Given the description of an element on the screen output the (x, y) to click on. 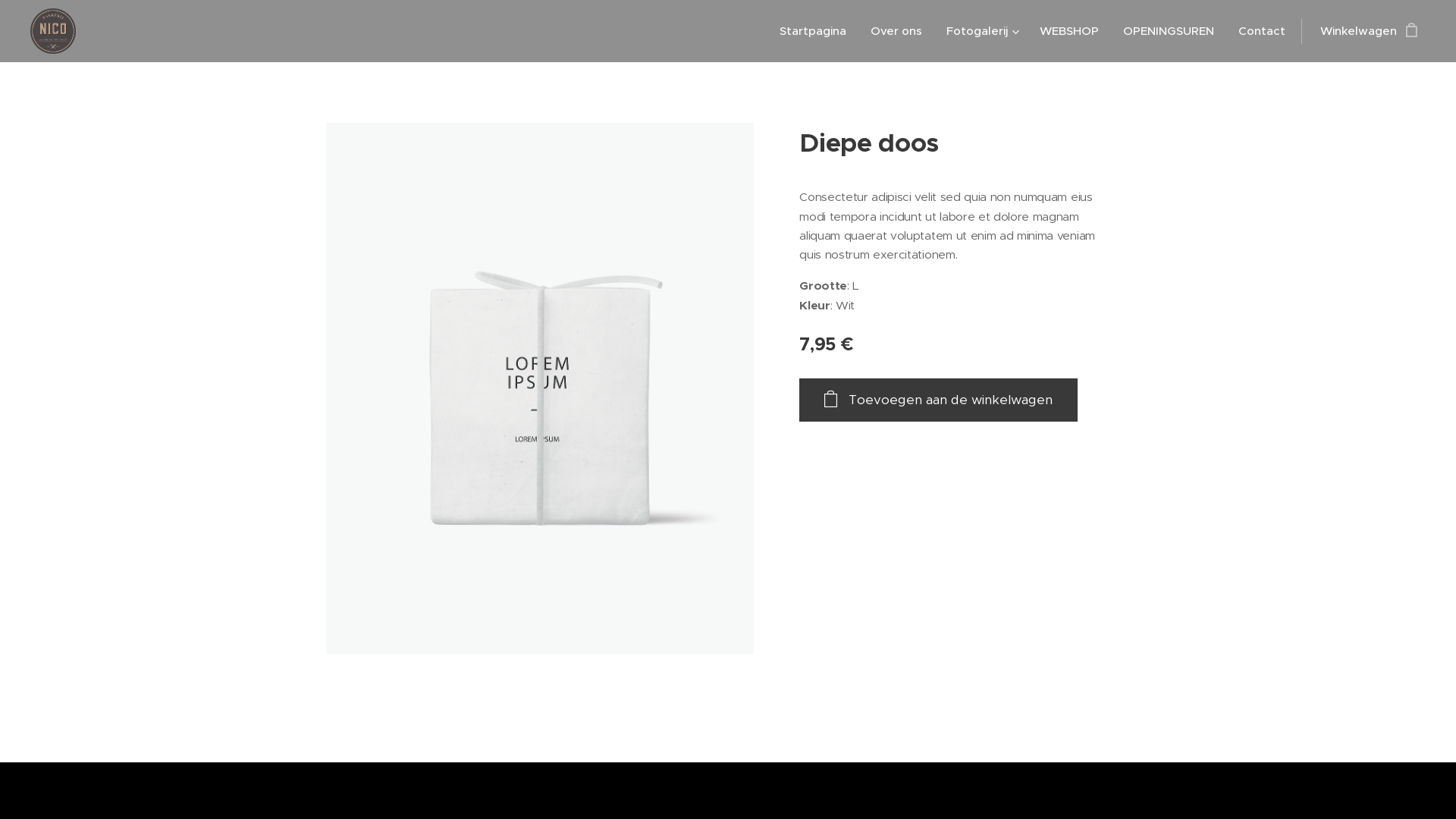
Winkelwagen Element type: text (1363, 31)
Toevoegen aan de winkelwagen Element type: text (938, 400)
Startpagina Element type: text (816, 31)
OPENINGSUREN Element type: text (1168, 31)
Fotogalerij Element type: text (980, 31)
Webnode Element type: text (784, 786)
WEBSHOP Element type: text (1068, 31)
Contact Element type: text (1261, 31)
Over ons Element type: text (896, 31)
